Given the description of an element on the screen output the (x, y) to click on. 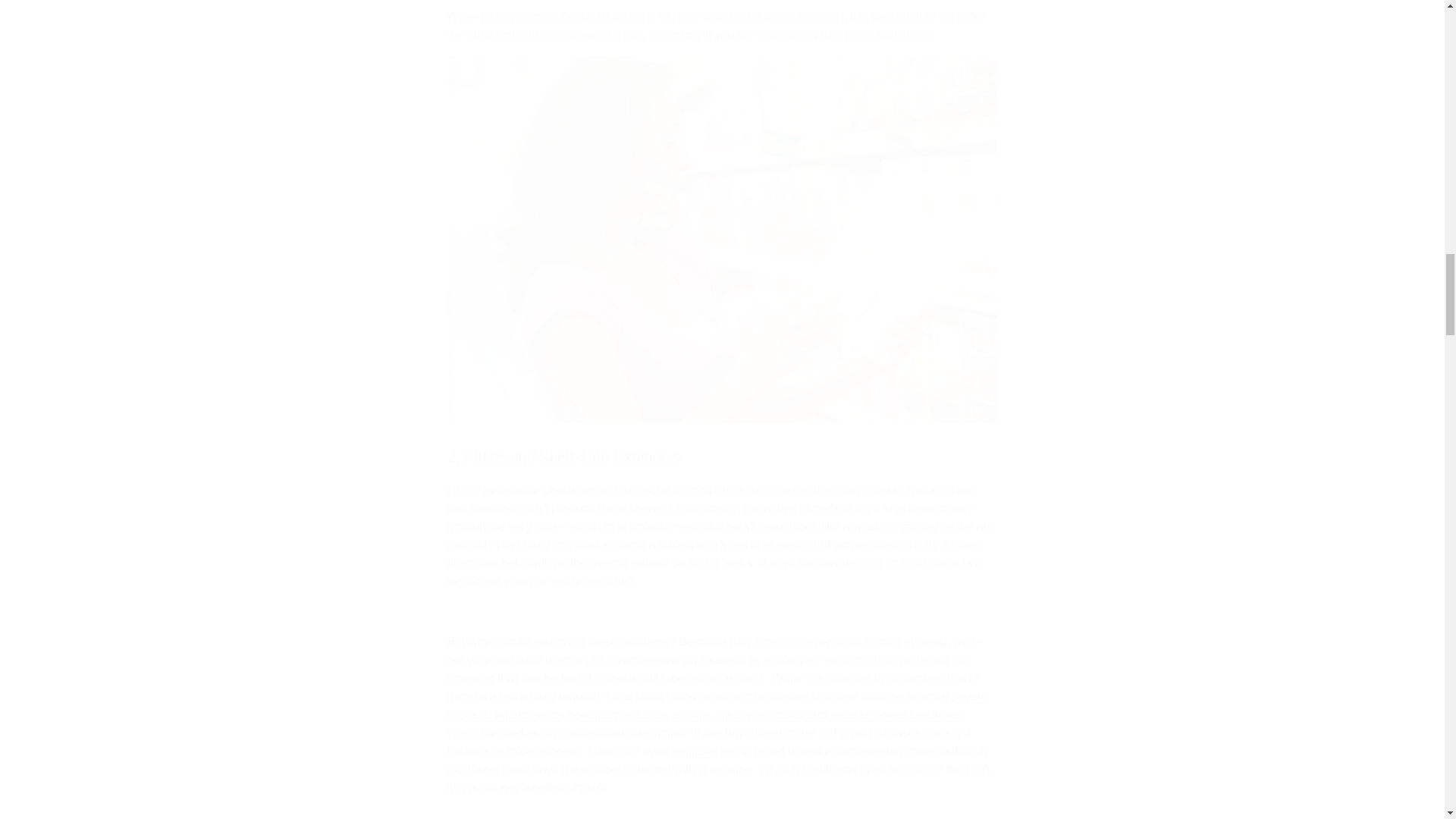
petitions (694, 750)
